Given the description of an element on the screen output the (x, y) to click on. 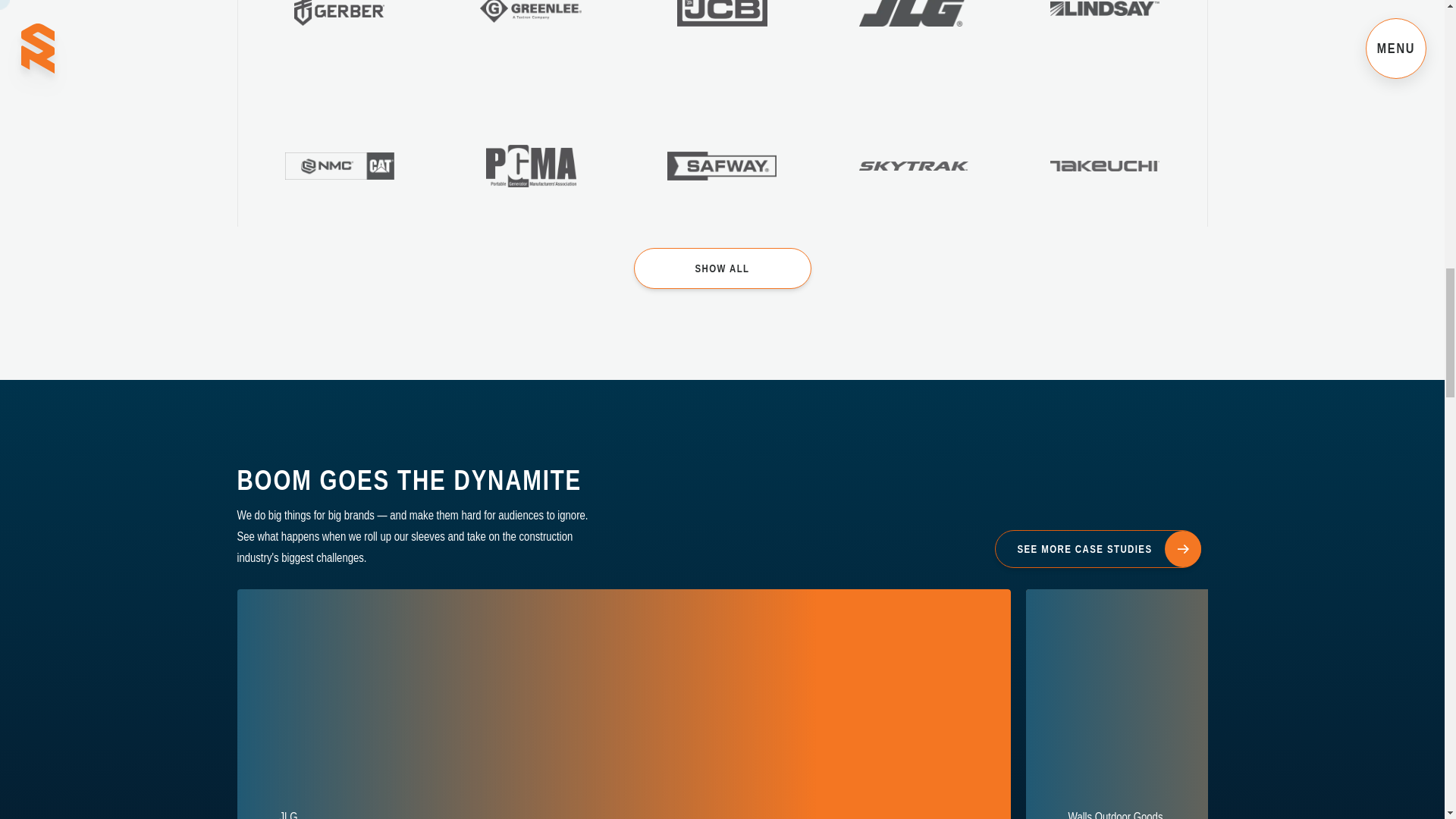
SEE MORE CASE STUDIES (1097, 548)
SEE MORE CASE STUDIES (721, 267)
